Given the description of an element on the screen output the (x, y) to click on. 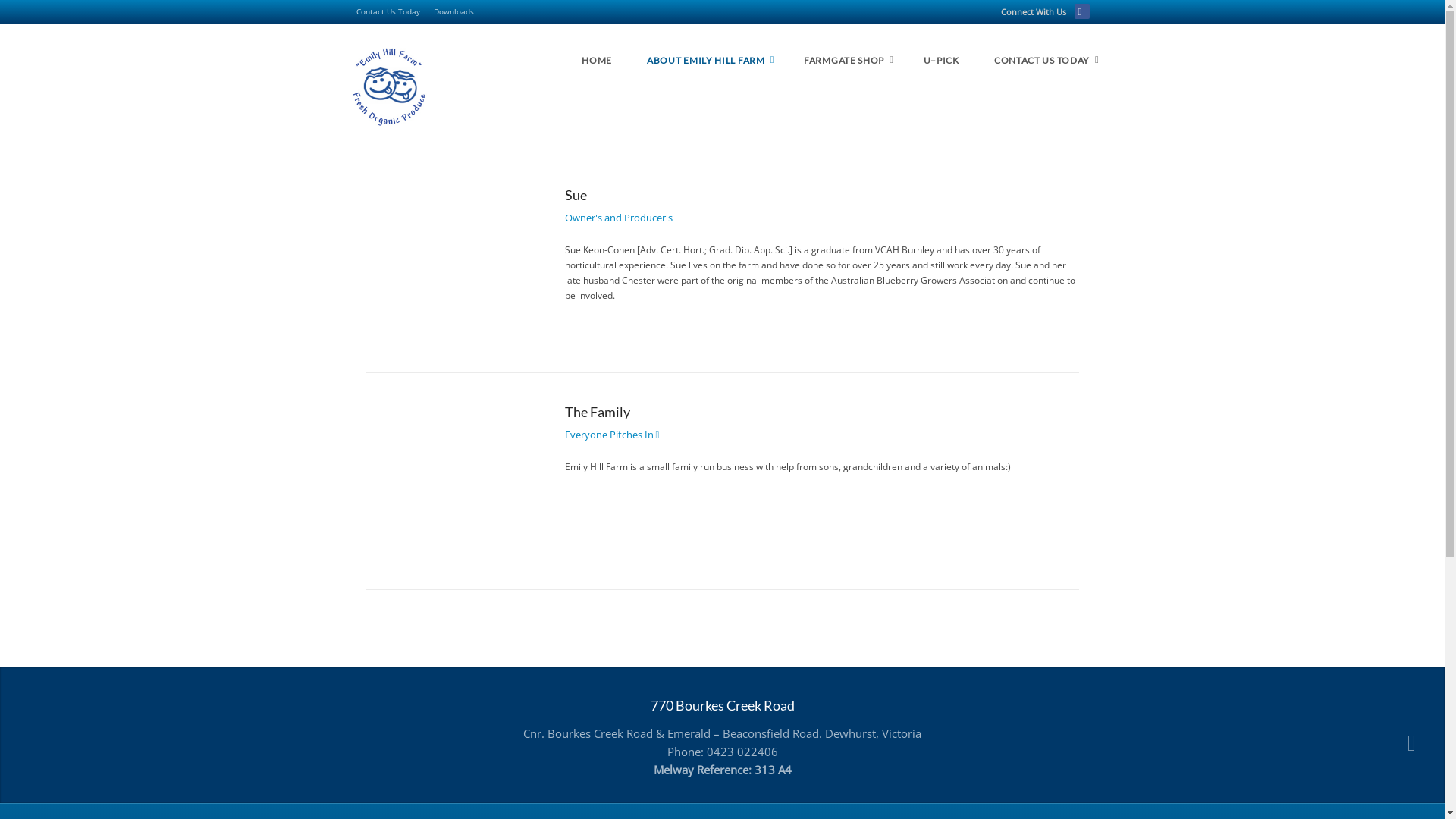
Downloads Element type: text (453, 11)
Facebook Element type: text (1080, 10)
FARMGATE SHOP Element type: text (845, 60)
HOME Element type: text (596, 60)
Contact Us Today Element type: text (392, 11)
ABOUT EMILY HILL FARM Element type: text (707, 60)
CONTACT US TODAY Element type: text (1044, 60)
